Given the description of an element on the screen output the (x, y) to click on. 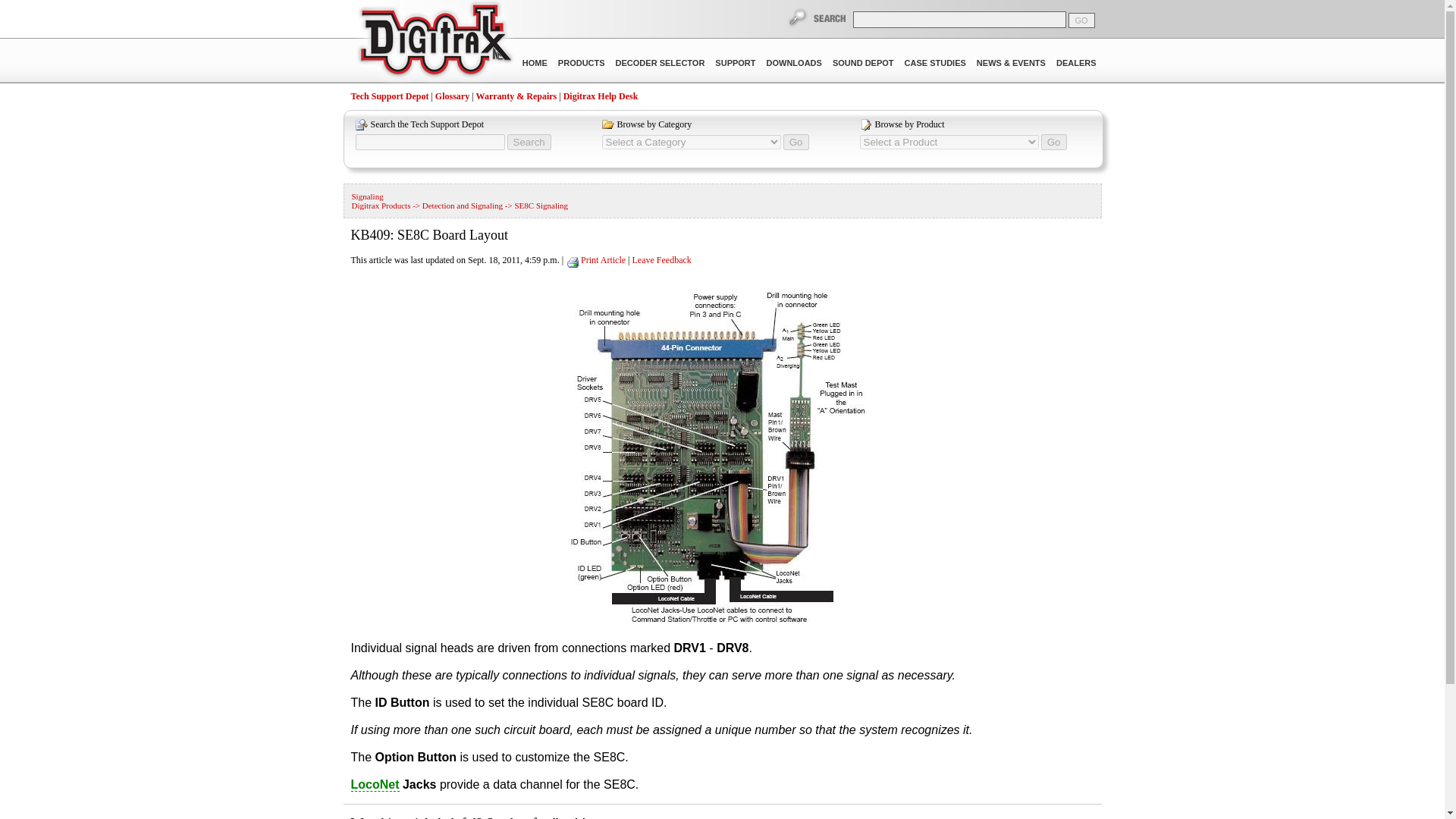
Digitrax, Inc. (433, 42)
GO (1080, 19)
Search (528, 141)
PRODUCTS (581, 63)
Go (796, 141)
DECODER SELECTOR (660, 63)
Go (1054, 141)
GO (1080, 19)
HOME (534, 63)
SUPPORT (735, 63)
DOWNLOADS (794, 63)
